Given the description of an element on the screen output the (x, y) to click on. 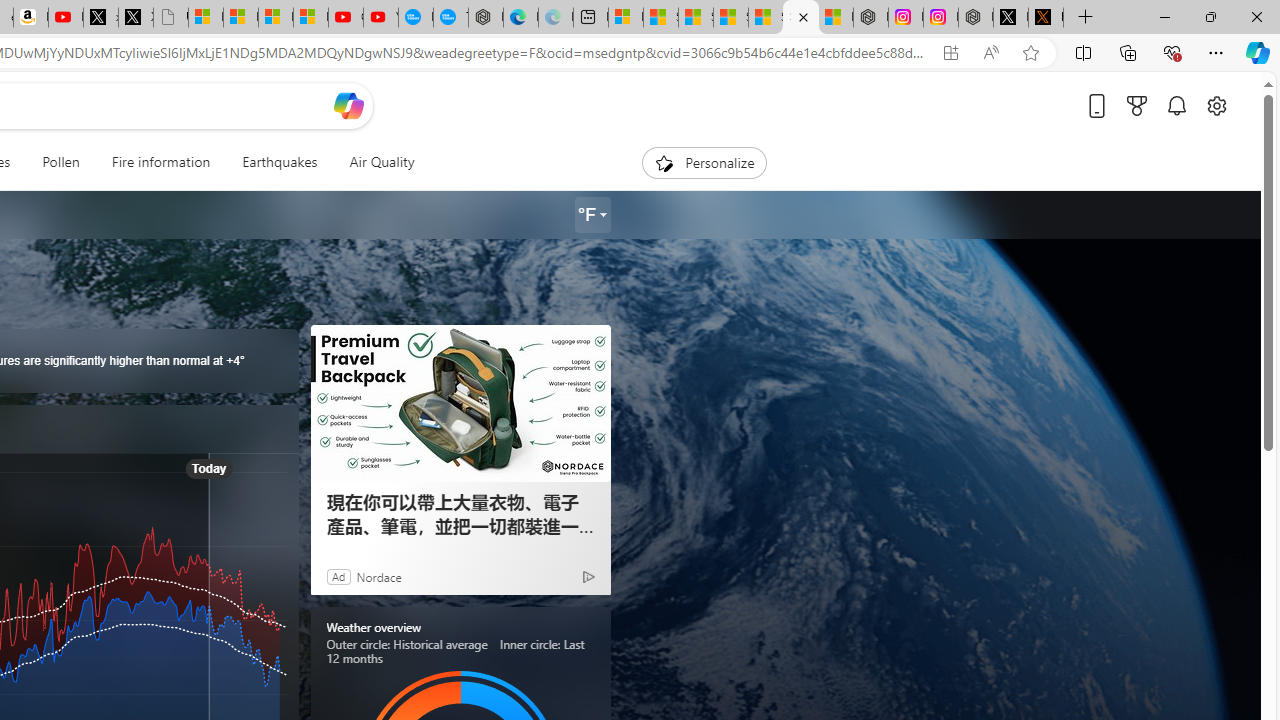
YouTube Kids - An App Created for Kids to Explore Content (380, 17)
X (136, 17)
New tab (590, 17)
Notifications (1176, 105)
Weather settings (591, 215)
Microsoft account | Microsoft Account Privacy Settings (625, 17)
Gloom - YouTube (346, 17)
Copilot (Ctrl+Shift+.) (1258, 52)
Air Quality (373, 162)
Nordace (@NordaceOfficial) / X (1010, 17)
Shanghai, China Weather trends | Microsoft Weather (800, 17)
